Given the description of an element on the screen output the (x, y) to click on. 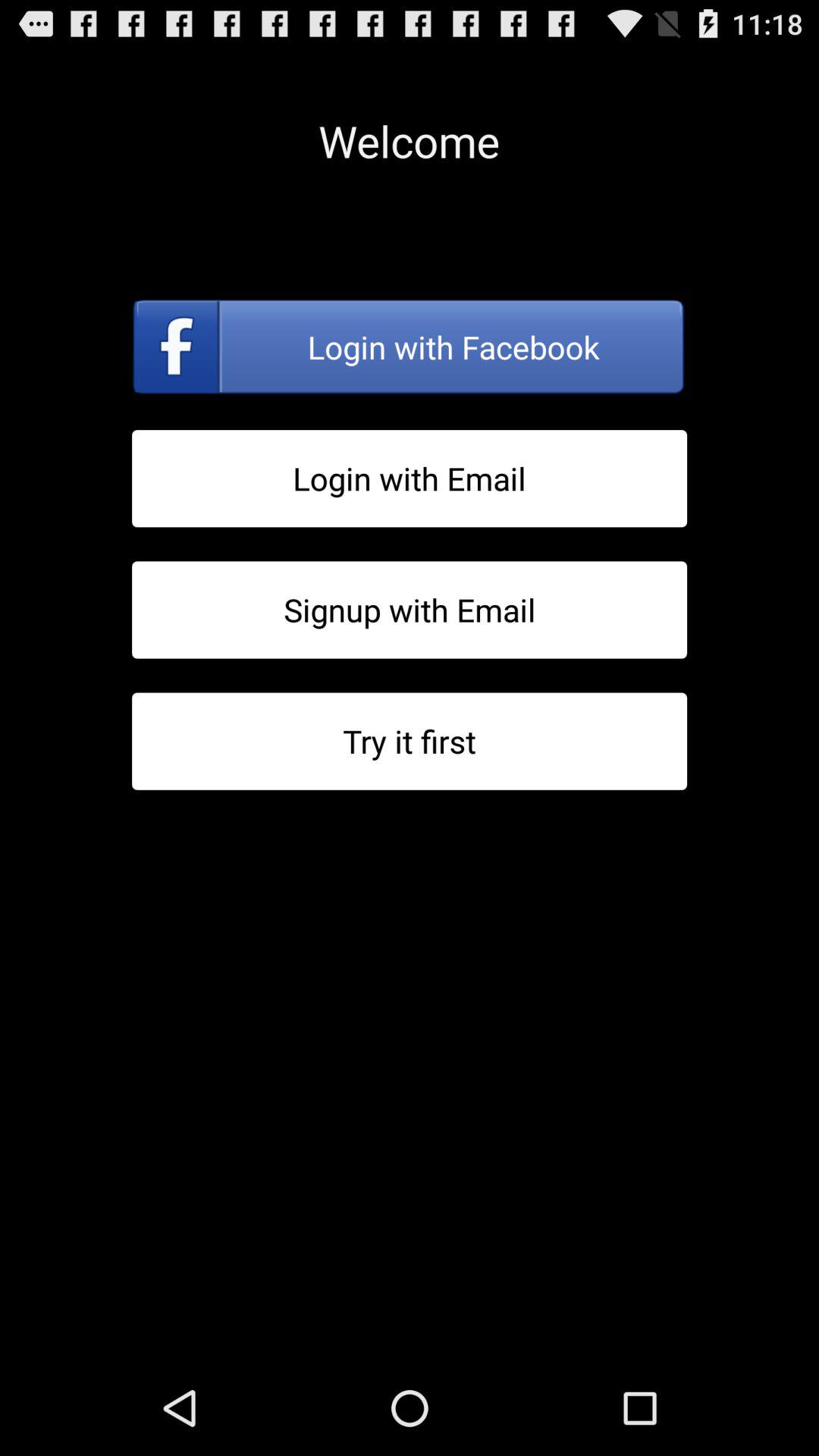
log into facebook (409, 346)
